Given the description of an element on the screen output the (x, y) to click on. 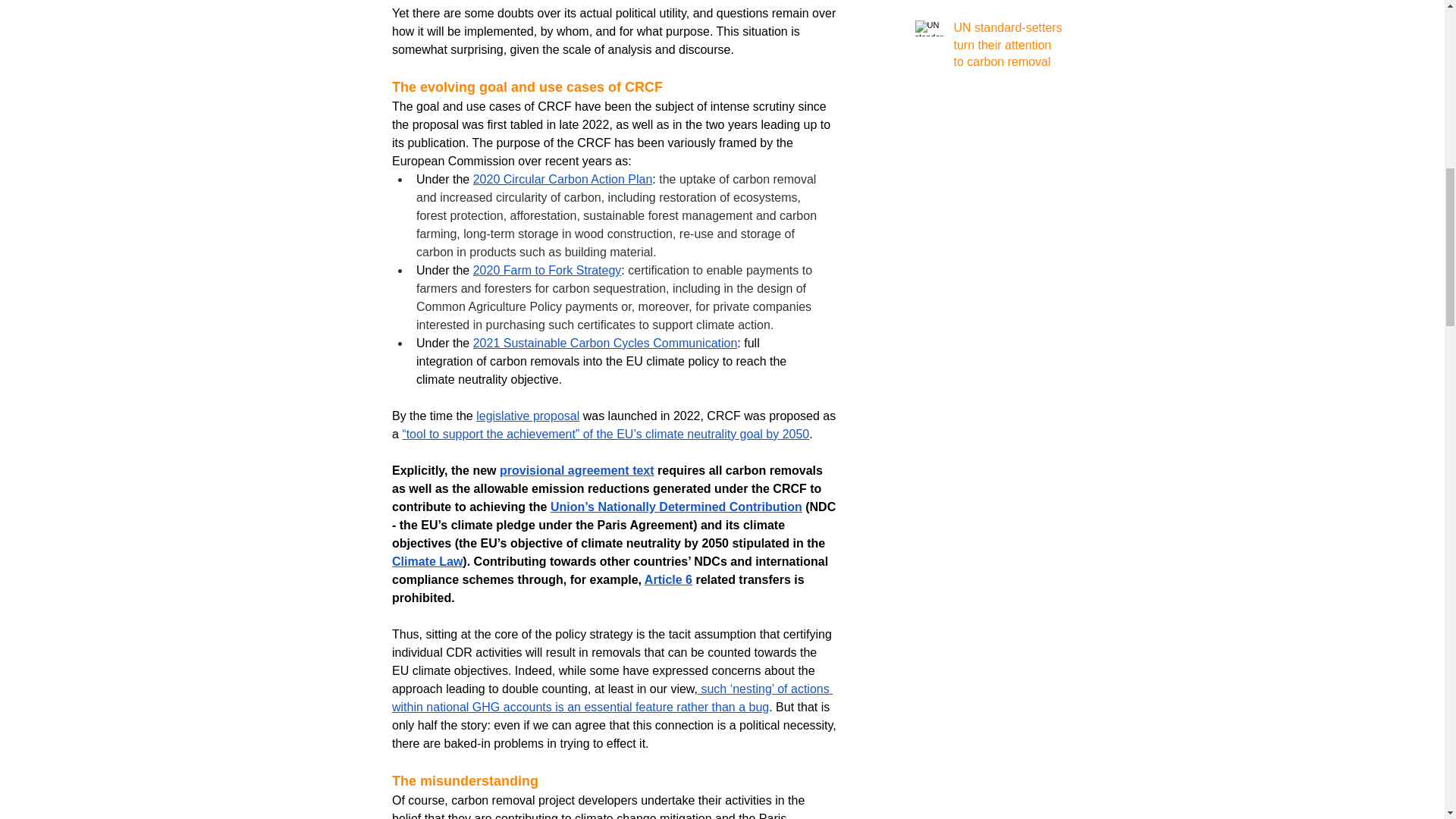
2021 Sustainable Carbon Cycles Communication (603, 342)
2020 Circular Carbon Action Plan (561, 178)
Article 6 (667, 579)
Climate Law (426, 561)
legislative proposal (527, 415)
provisional agreement text (576, 470)
2020 Farm to Fork Strategy (546, 269)
